Given the description of an element on the screen output the (x, y) to click on. 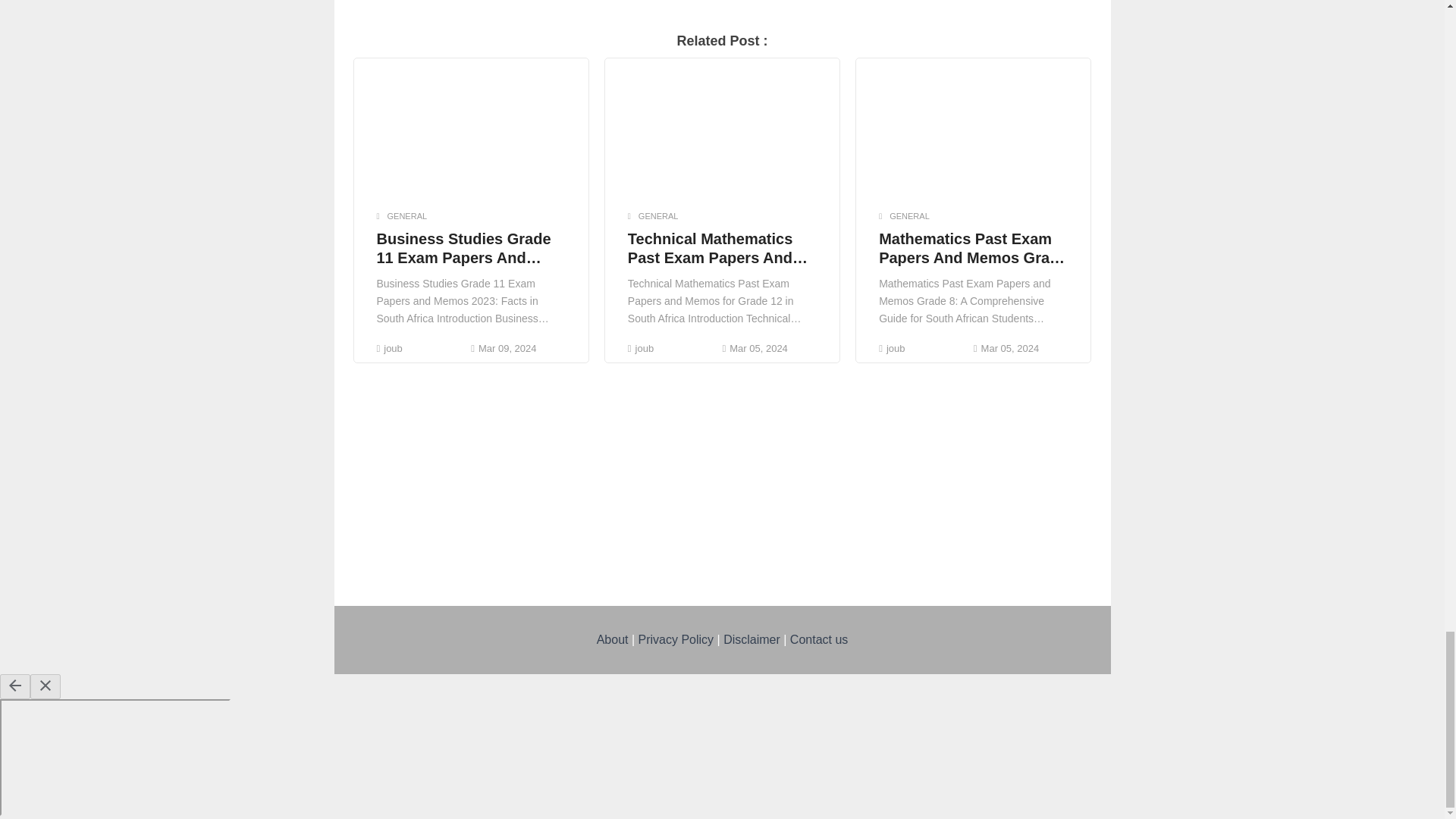
Contact us (818, 639)
About (612, 639)
Privacy Policy (676, 639)
Disclaimer (751, 639)
